Given the description of an element on the screen output the (x, y) to click on. 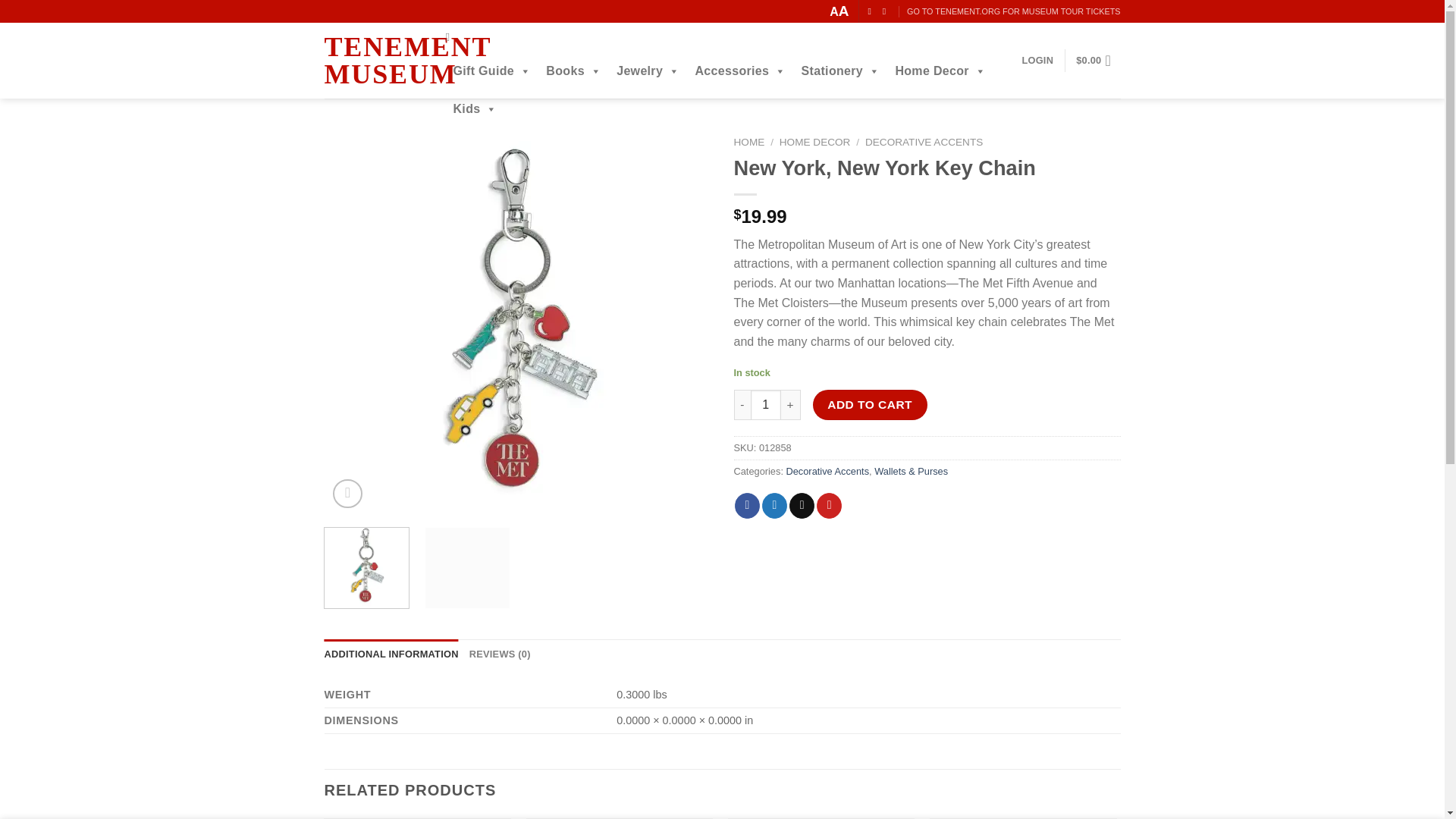
TENEMENT MUSEUM (381, 60)
Share on Twitter (774, 505)
Gift Guide (491, 71)
1 (765, 404)
Go To Tenement.org (1013, 11)
Follow on Facebook (872, 10)
Share on Facebook (747, 505)
Login (1037, 60)
Books (573, 71)
Zoom (347, 493)
Follow on Instagram (886, 10)
GO TO TENEMENT.ORG FOR MUSEUM TOUR TICKETS (1013, 11)
- (742, 404)
